Given the description of an element on the screen output the (x, y) to click on. 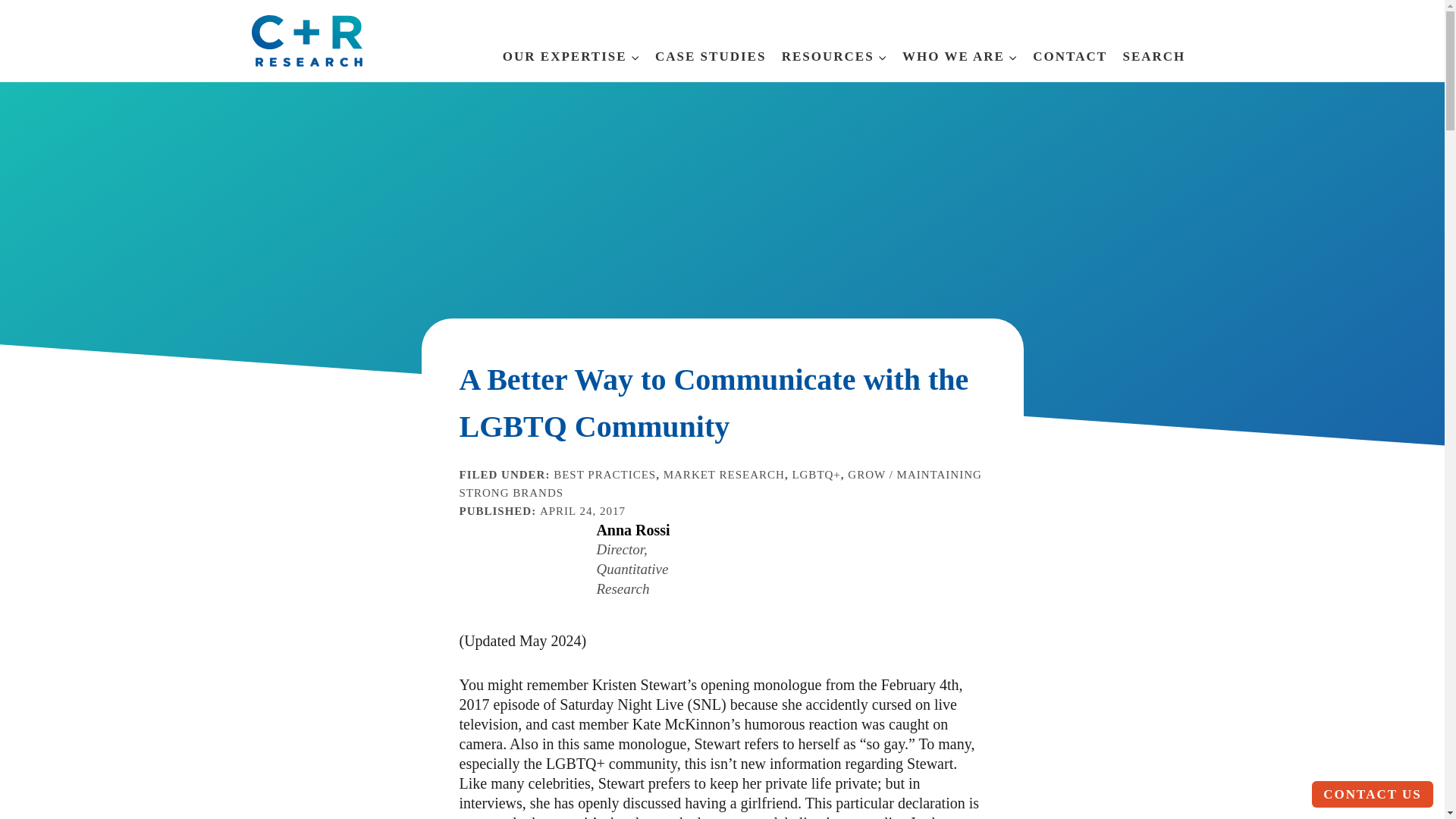
RESOURCES (834, 52)
Contact Us (1371, 794)
OUR EXPERTISE (571, 52)
CASE STUDIES (710, 52)
